Given the description of an element on the screen output the (x, y) to click on. 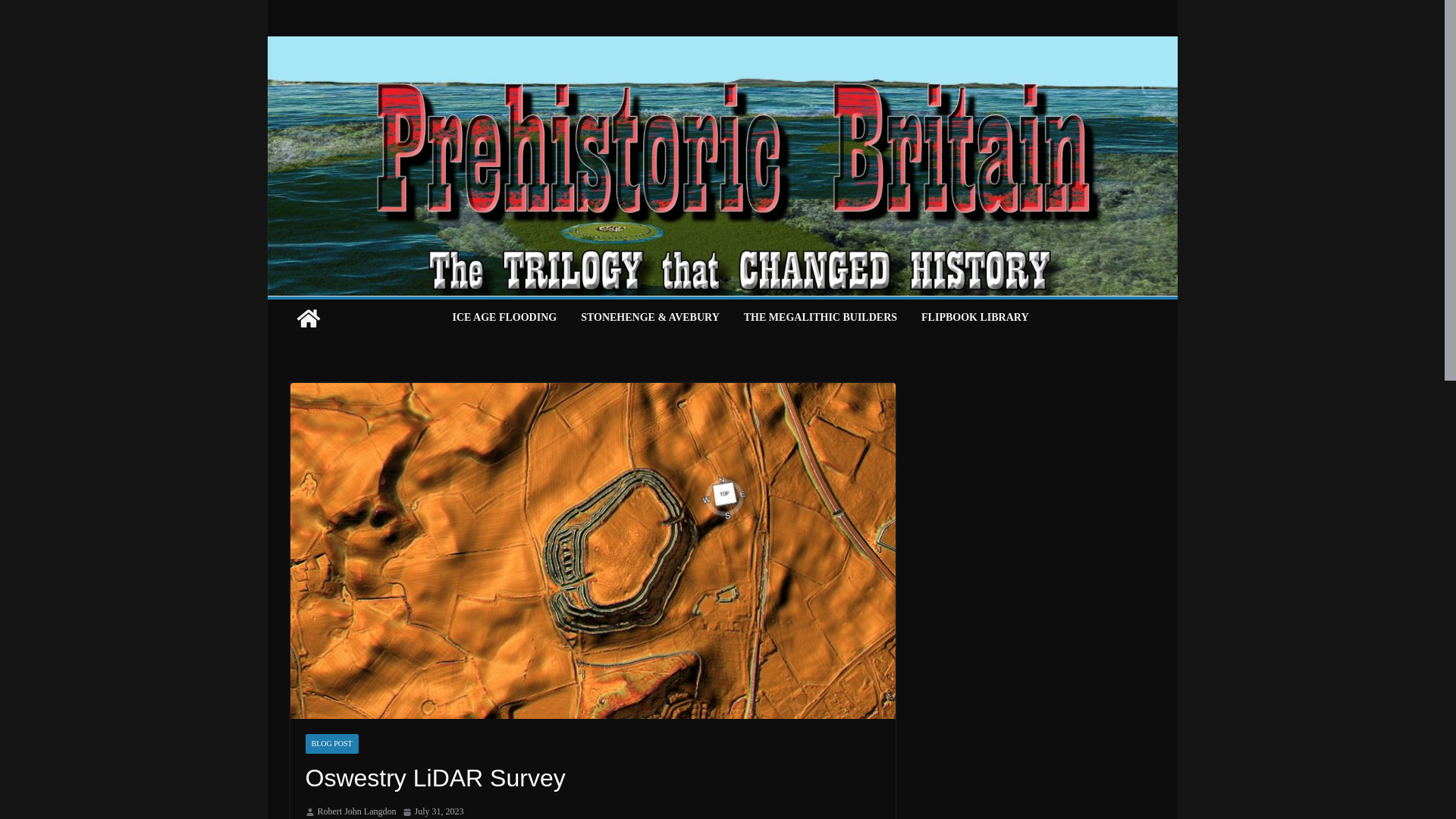
FLIPBOOK LIBRARY (974, 318)
12:47 pm (432, 811)
Prehistoric Britain (307, 318)
Robert John Langdon (356, 811)
July 31, 2023 (432, 811)
BLOG POST (331, 743)
THE MEGALITHIC BUILDERS (820, 318)
Robert John Langdon (356, 811)
ICE AGE FLOODING (503, 318)
